Given the description of an element on the screen output the (x, y) to click on. 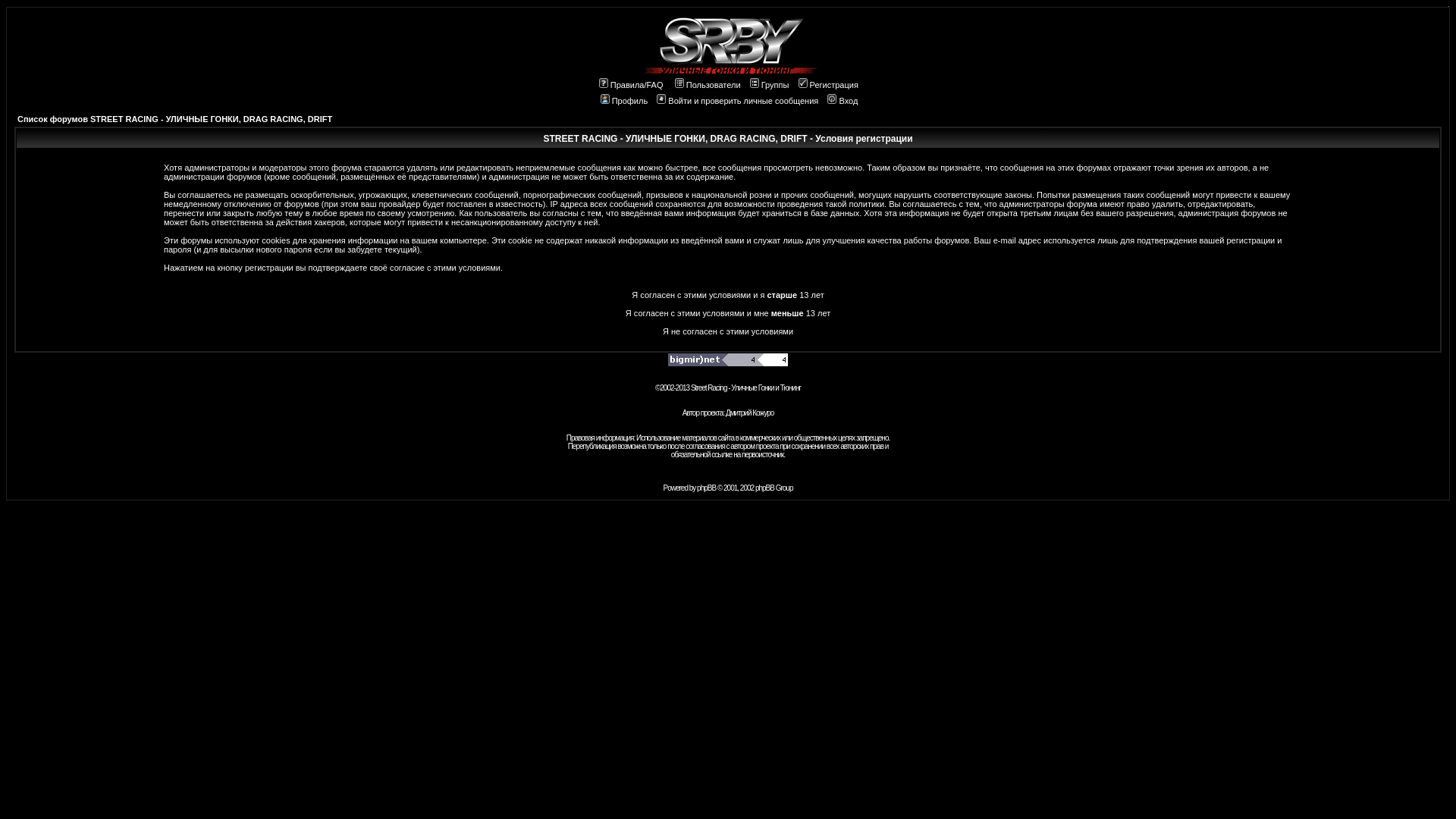
bigmir)net TOP 100 Element type: hover (727, 359)
phpBB Element type: text (705, 487)
